Given the description of an element on the screen output the (x, y) to click on. 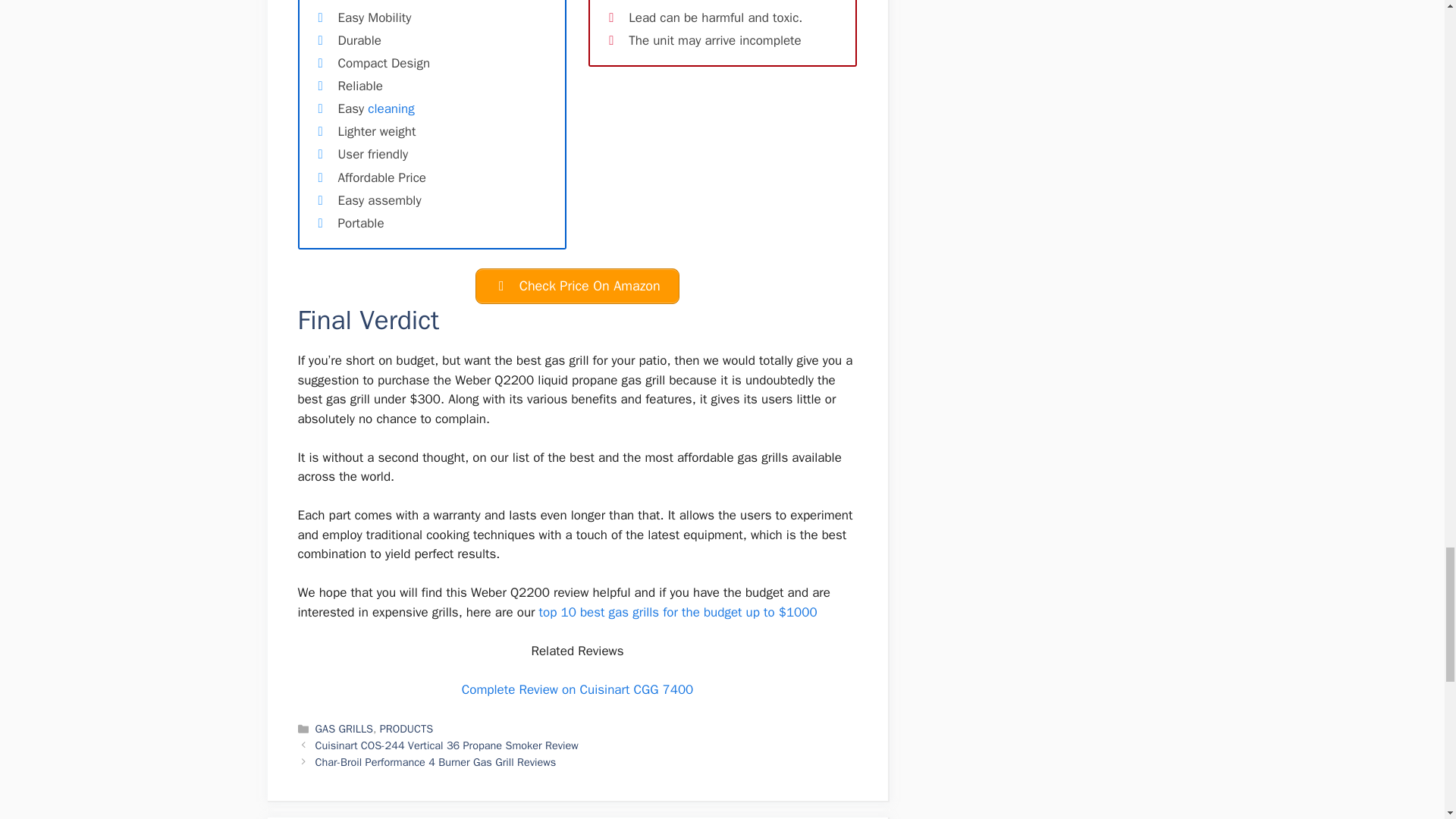
Complete Review on Cuisinart CGG 7400 (577, 689)
GAS GRILLS (343, 728)
PRODUCTS (406, 728)
Char-Broil Performance 4 Burner Gas Grill Reviews (435, 762)
Check Price On Amazon (577, 285)
cleaning (390, 108)
Cuisinart COS-244 Vertical 36 Propane Smoker Review (446, 745)
